Given the description of an element on the screen output the (x, y) to click on. 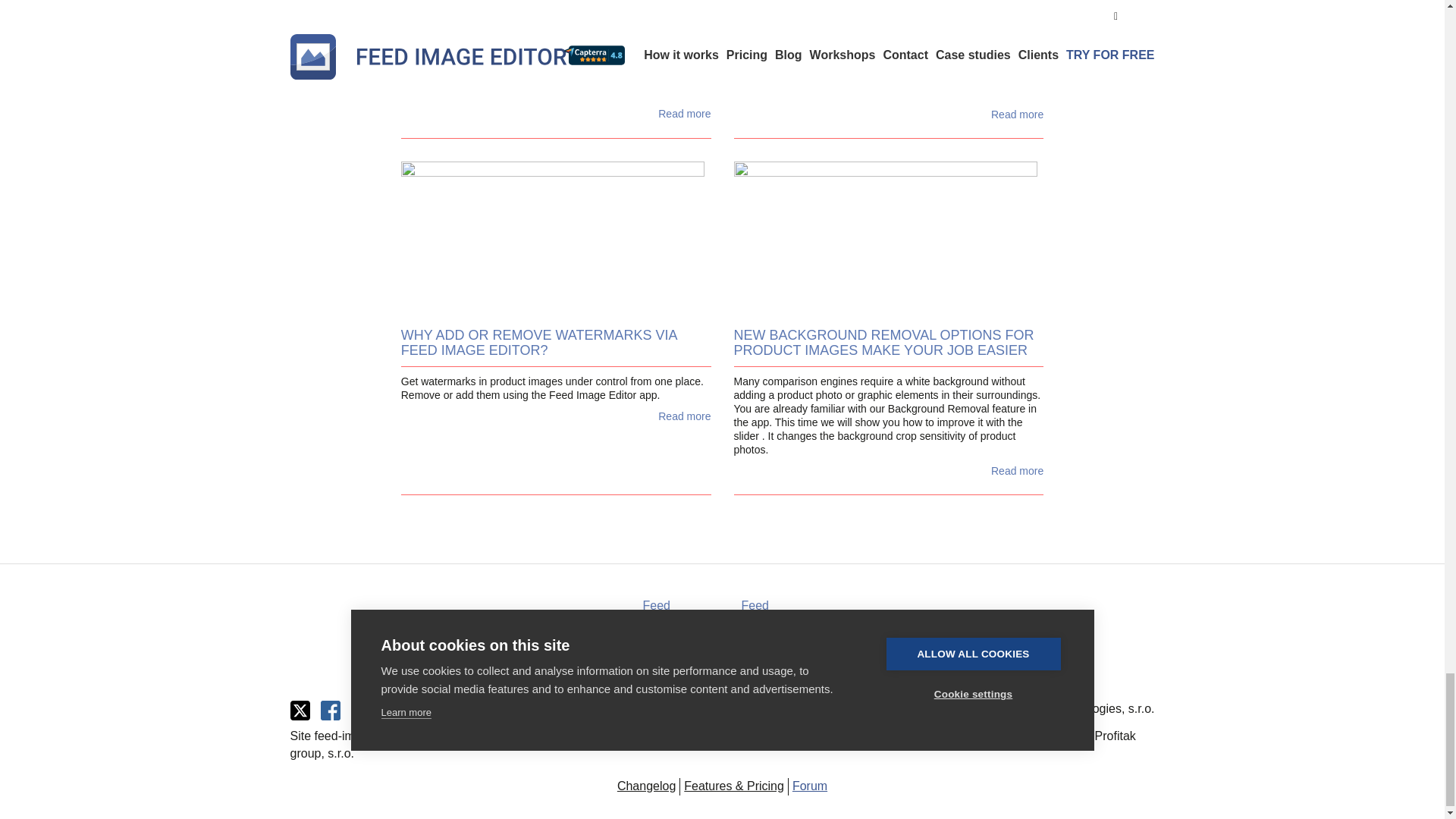
Youtube Feed Image Editor (419, 710)
Facebook Feed Image Editoru (333, 710)
RSS Feed Image Editoru (364, 710)
